Given the description of an element on the screen output the (x, y) to click on. 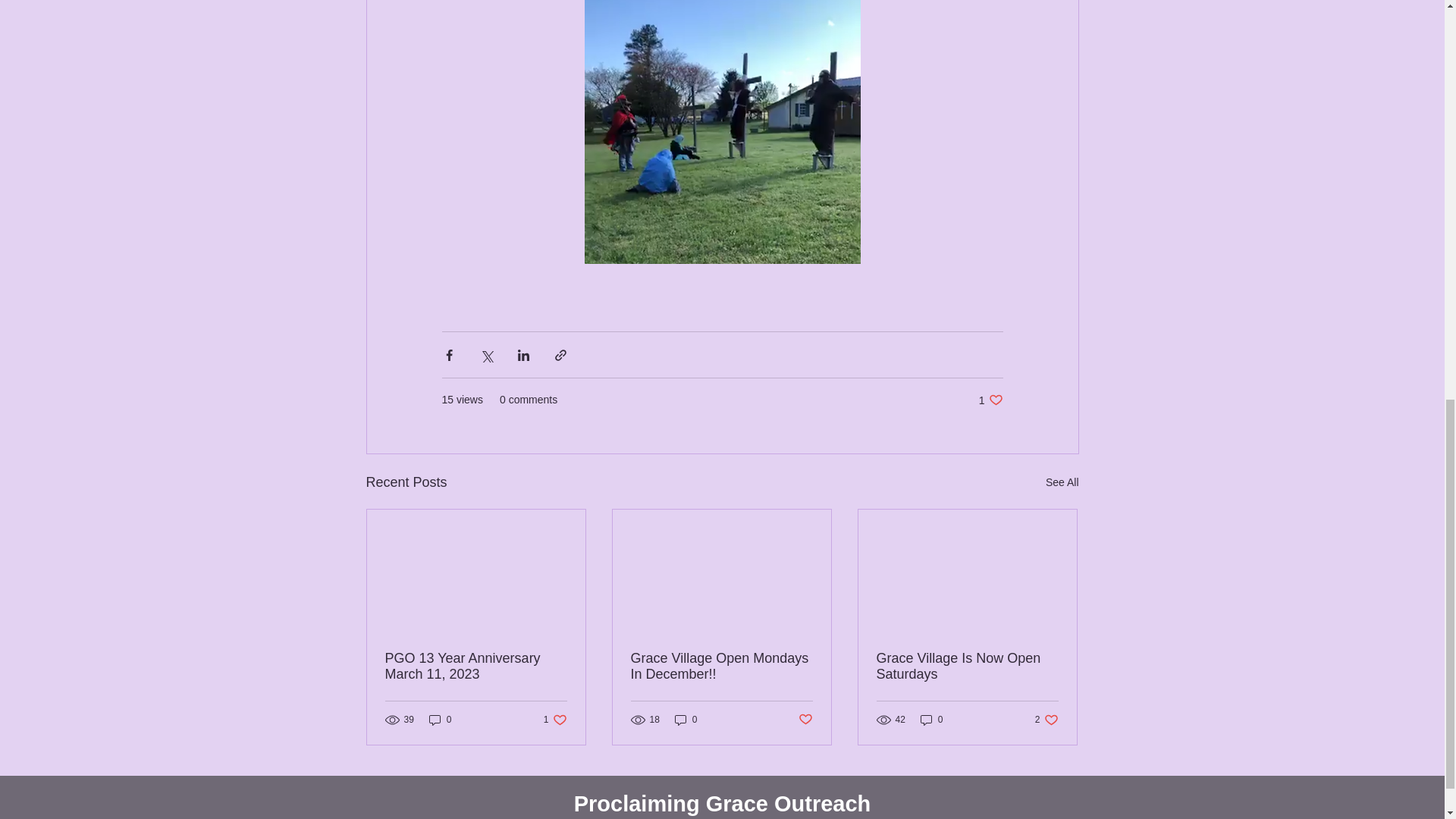
0 (440, 719)
See All (1061, 482)
PGO 13 Year Anniversary March 11, 2023 (555, 719)
Grace Village Is Now Open Saturdays (476, 666)
Post not marked as liked (967, 666)
0 (990, 400)
Grace Village Open Mondays In December!! (804, 719)
0 (931, 719)
